Given the description of an element on the screen output the (x, y) to click on. 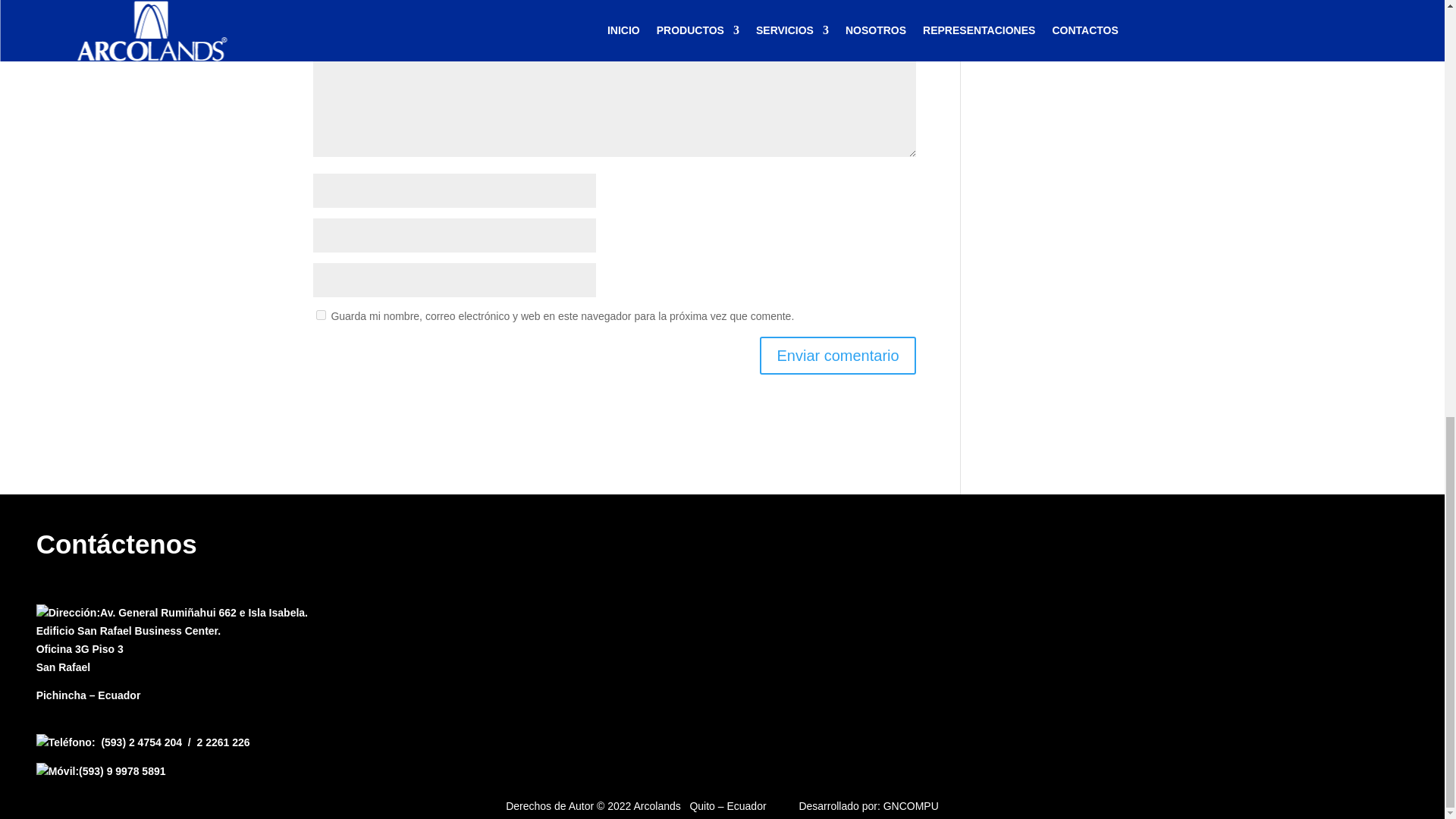
GNCOMPU (911, 806)
yes (319, 315)
Enviar comentario (837, 354)
Enviar comentario (837, 354)
